Given the description of an element on the screen output the (x, y) to click on. 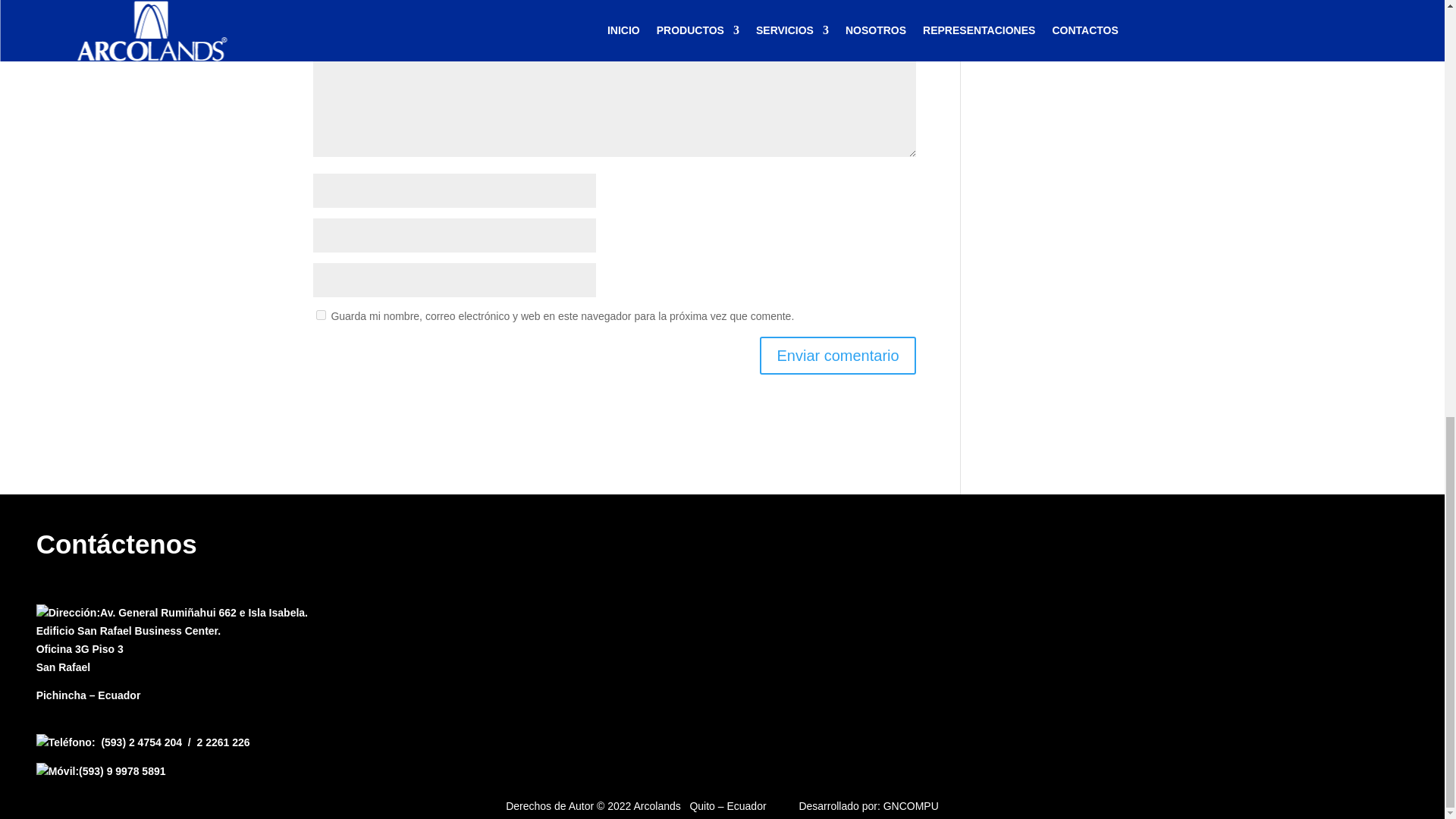
GNCOMPU (911, 806)
yes (319, 315)
Enviar comentario (837, 354)
Enviar comentario (837, 354)
